Given the description of an element on the screen output the (x, y) to click on. 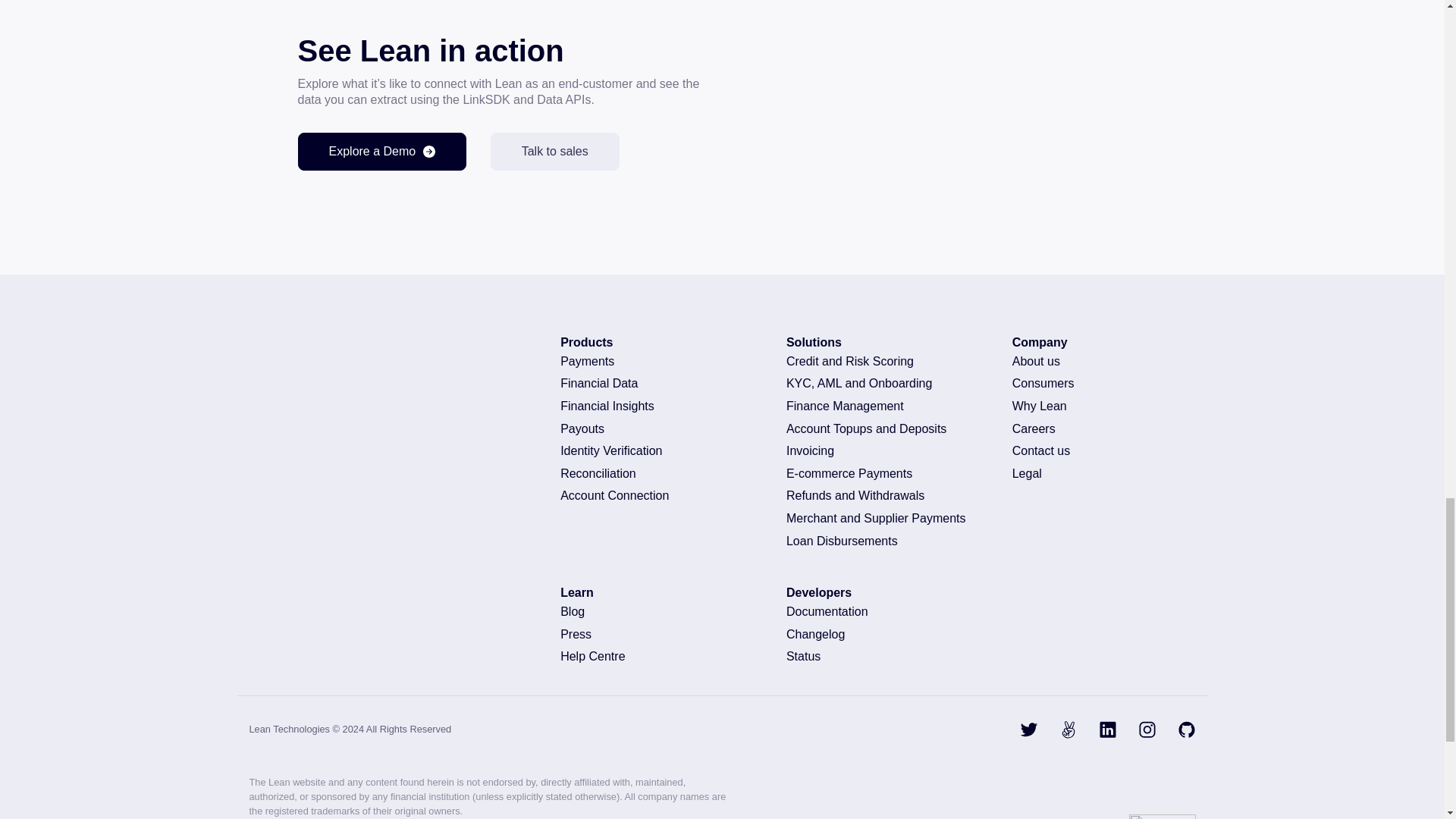
Financial Insights (657, 406)
Payouts (657, 428)
Explore a Demo (381, 151)
Talk to sales (555, 151)
Payments (657, 361)
Financial Data (657, 383)
